Given the description of an element on the screen output the (x, y) to click on. 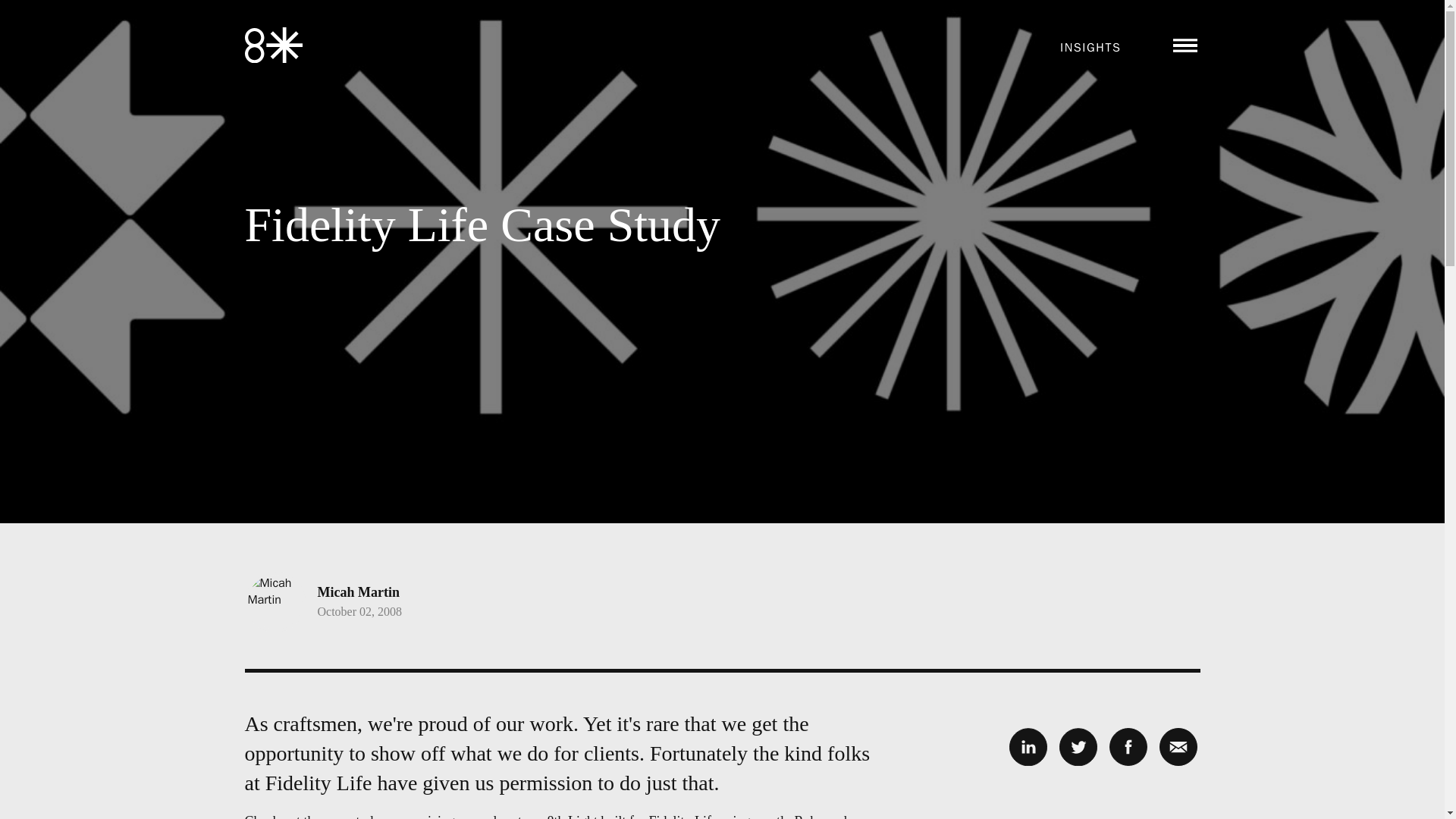
Share on LinkedIn (1027, 746)
INSIGHTS (1090, 47)
Micah Martin (357, 591)
Share on Twitter (1077, 746)
Email this post (1177, 746)
Share on Facebook (1127, 746)
